Given the description of an element on the screen output the (x, y) to click on. 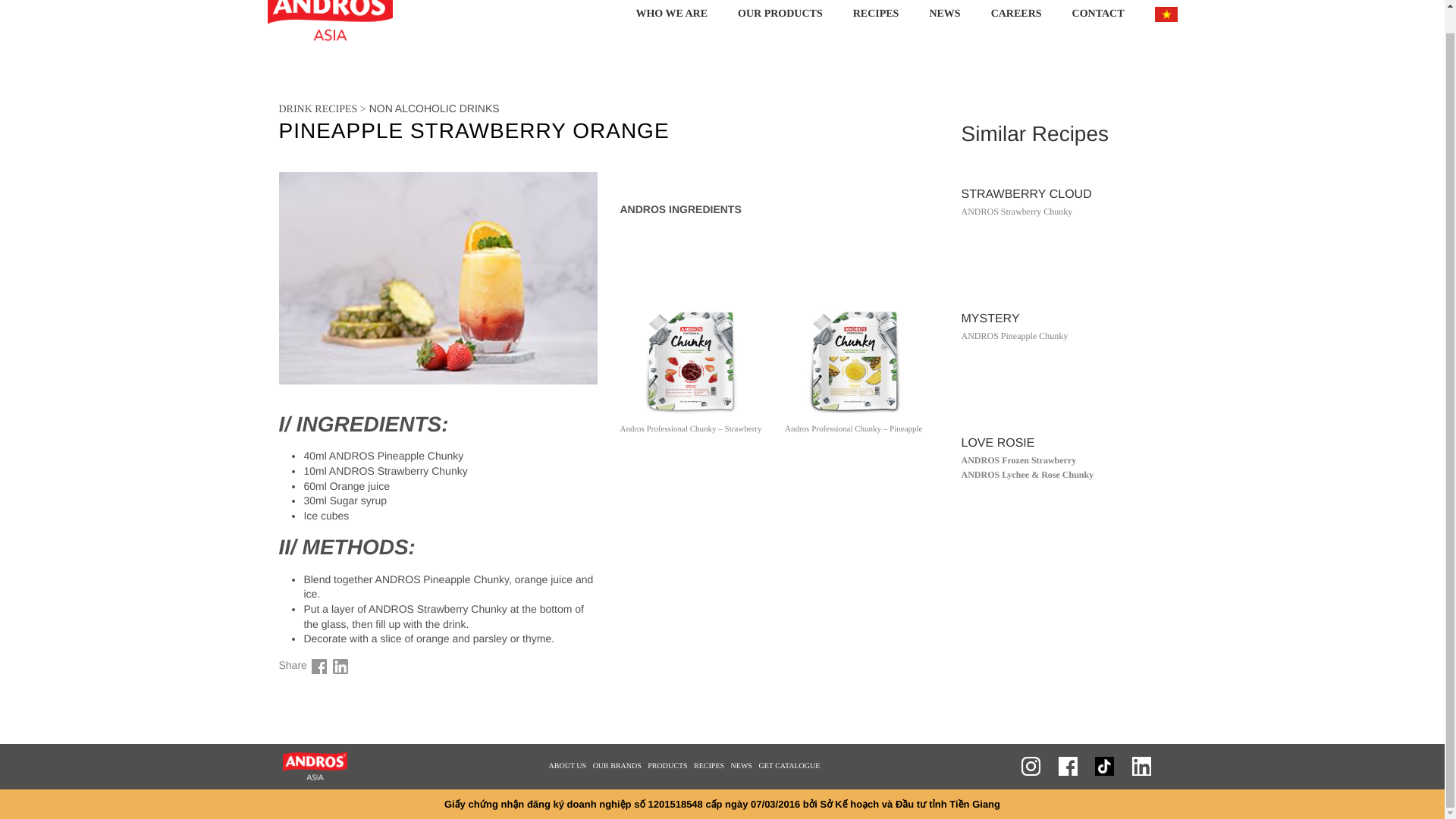
PINEAPPLE STRAWBERRY ORANGE 2 (340, 666)
RECIPES (876, 26)
PINEAPPLE STRAWBERRY ORANGE 1 (319, 666)
pineapple-updated (855, 361)
WHO WE ARE (671, 26)
august16 (437, 277)
strav3 (691, 361)
OUR PRODUCTS (780, 26)
